Given the description of an element on the screen output the (x, y) to click on. 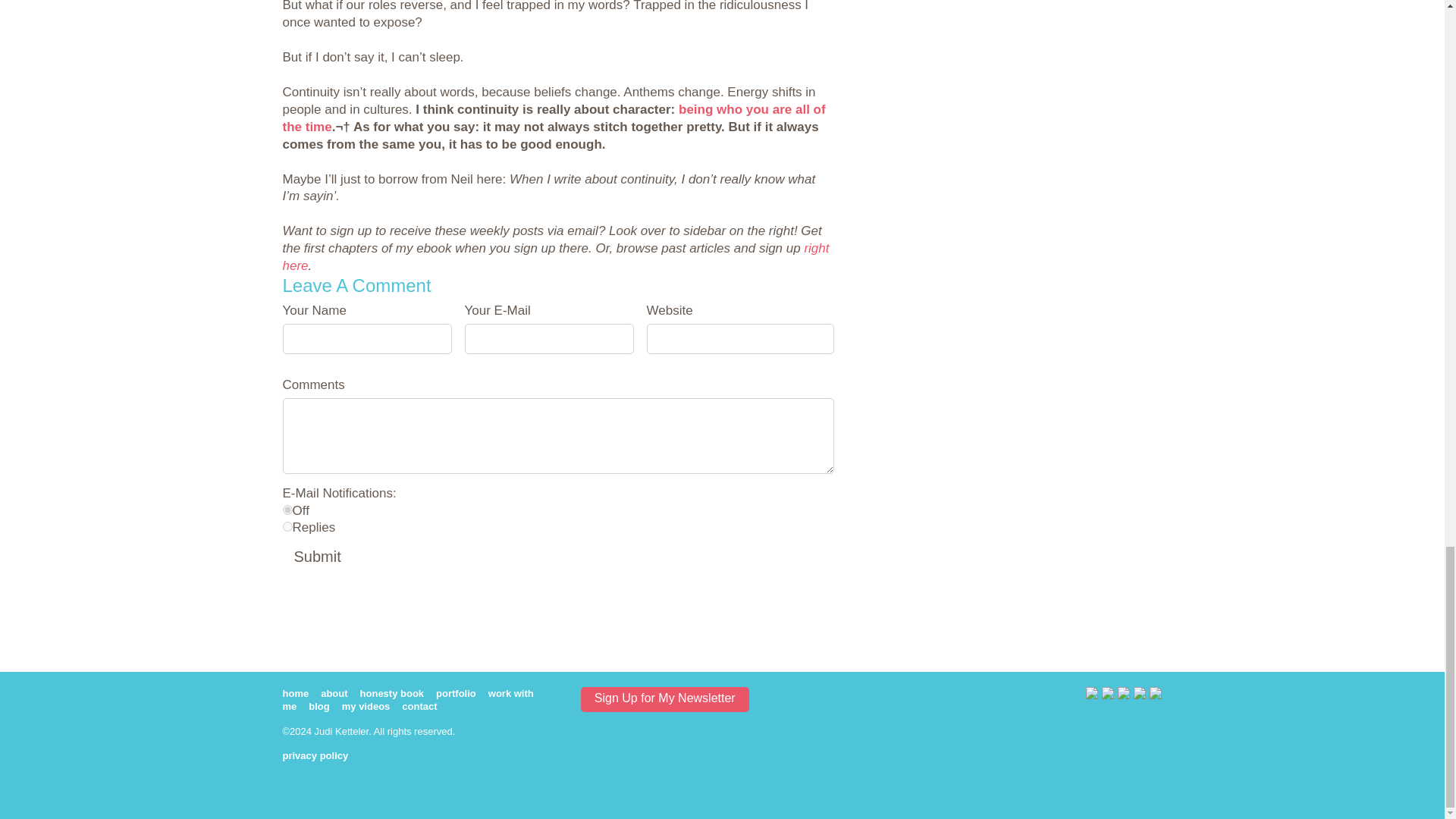
Like Cincinnati Copywriter on Facebook. (1123, 695)
right here (555, 256)
Follow Judi on Pinterest. (1139, 695)
Connect with Judi on LinkedIn. (1107, 695)
Follow Judi on Twitter. (1091, 695)
Submit (317, 558)
2 (287, 526)
0 (287, 510)
being who you are all of the time (553, 118)
